Given the description of an element on the screen output the (x, y) to click on. 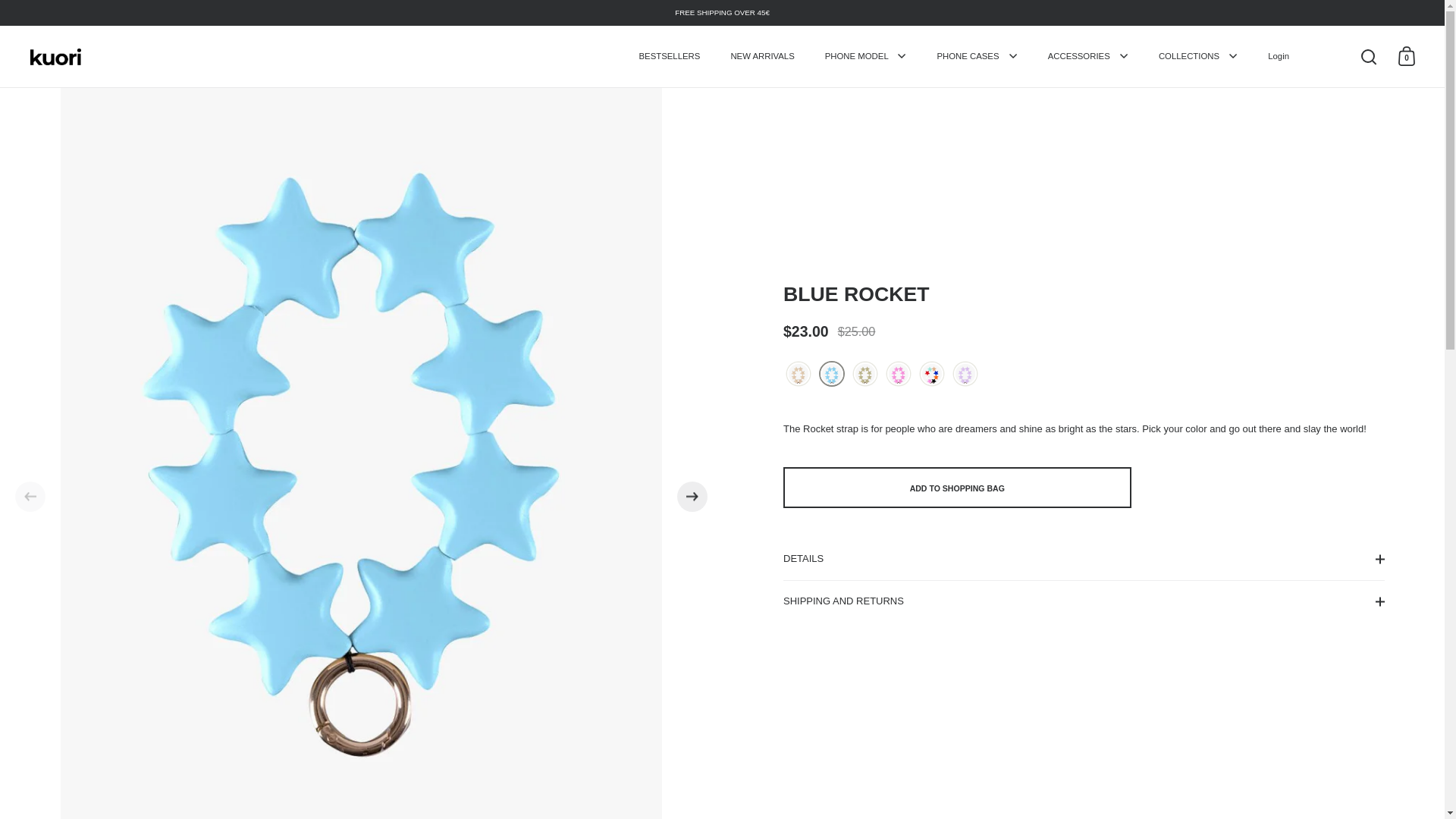
COLLECTIONS (1197, 56)
Rocket (932, 375)
BESTSELLERS (670, 56)
Blue Rocket (831, 375)
Open shopping bag (1406, 55)
Violet Rocket (964, 375)
Open search (1369, 55)
 Pink Rocket (898, 375)
Green Rocket (865, 375)
